Given the description of an element on the screen output the (x, y) to click on. 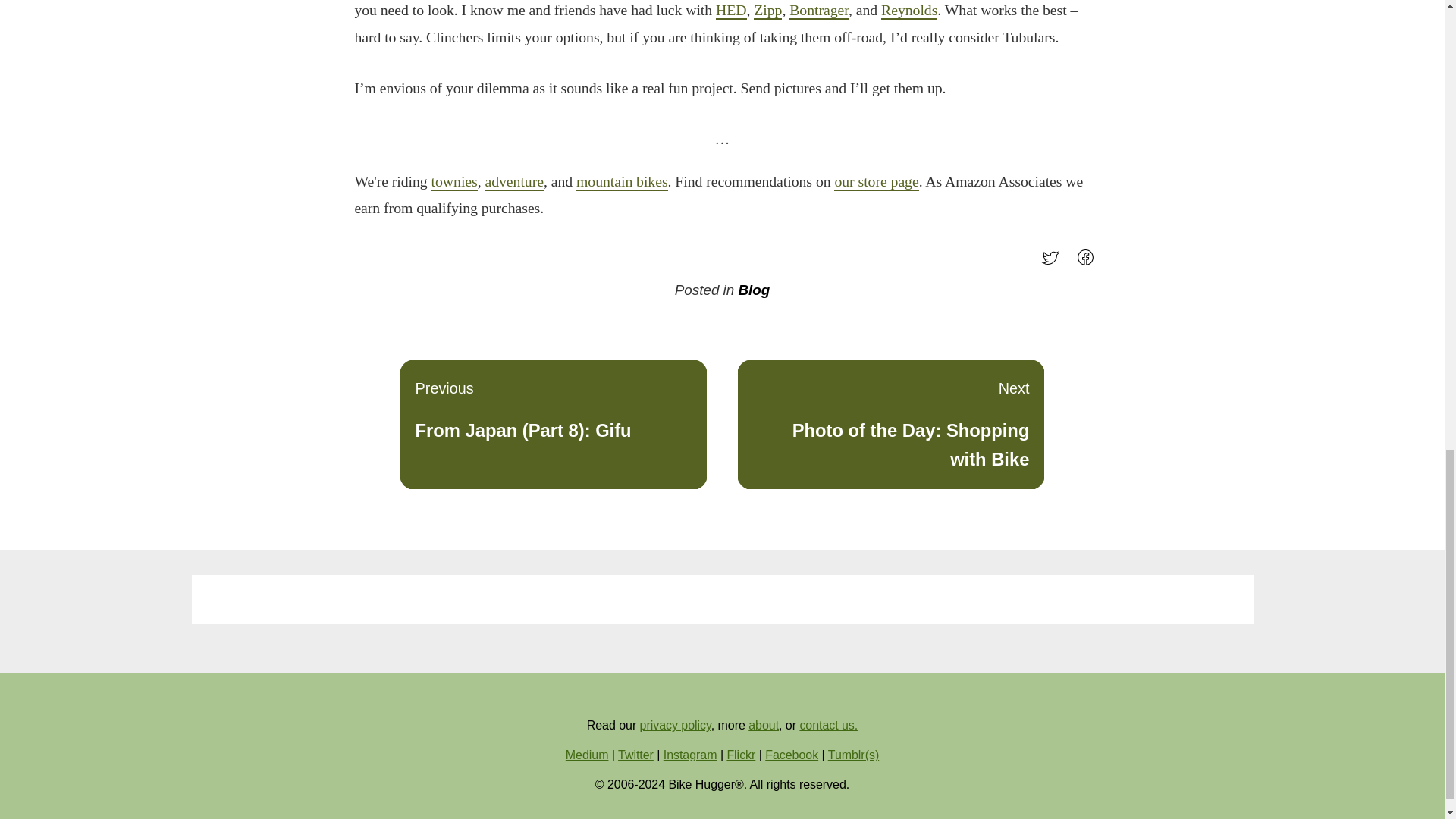
Blog (890, 424)
Bontrager (754, 289)
adventure (818, 10)
Share on Facebook (513, 181)
Tweet (1089, 262)
about (1054, 262)
Reynolds (763, 725)
HED (908, 10)
our store page (730, 10)
